Given the description of an element on the screen output the (x, y) to click on. 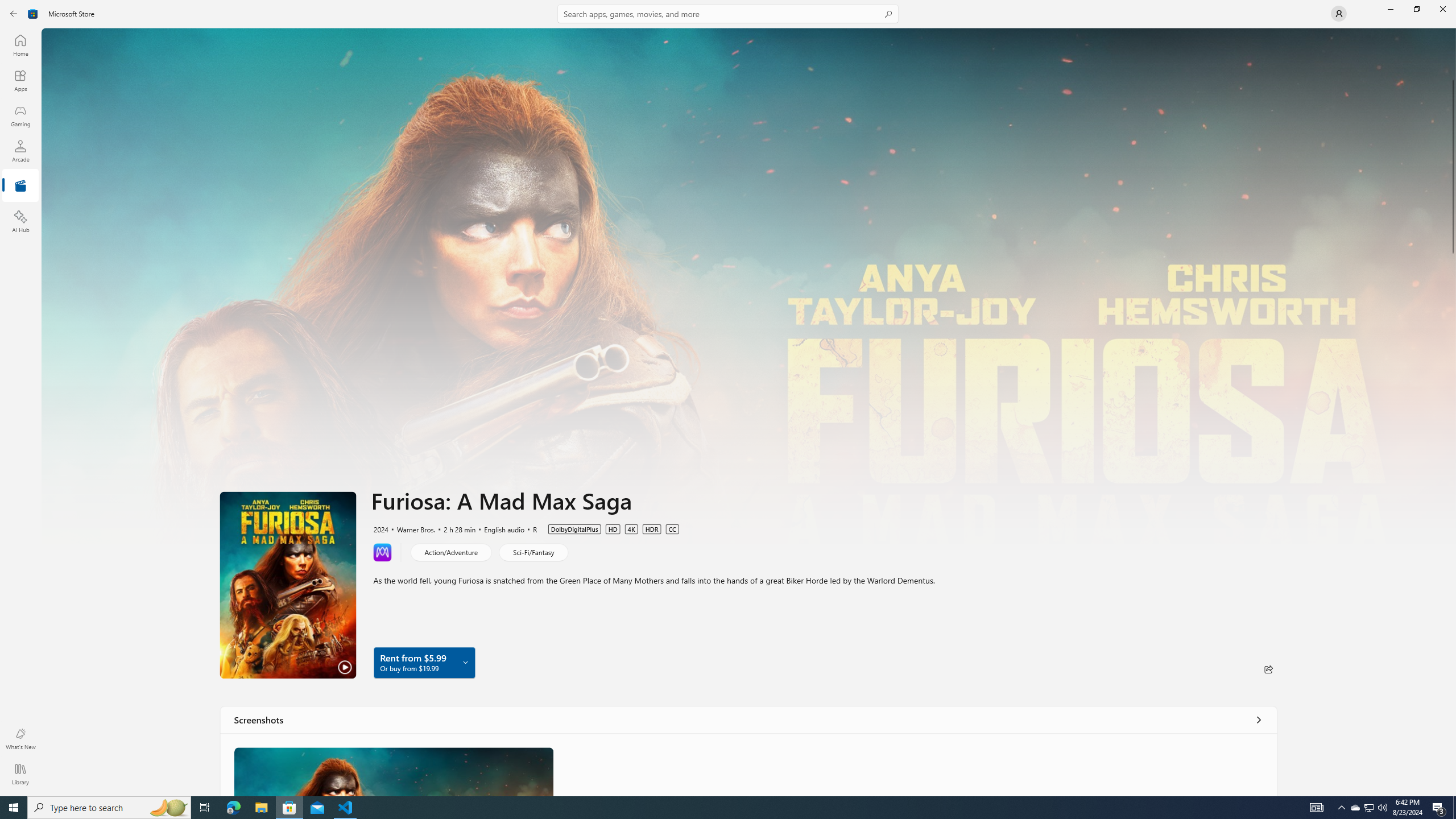
See all (1258, 719)
Play Trailer (287, 584)
English audio (498, 528)
